Given the description of an element on the screen output the (x, y) to click on. 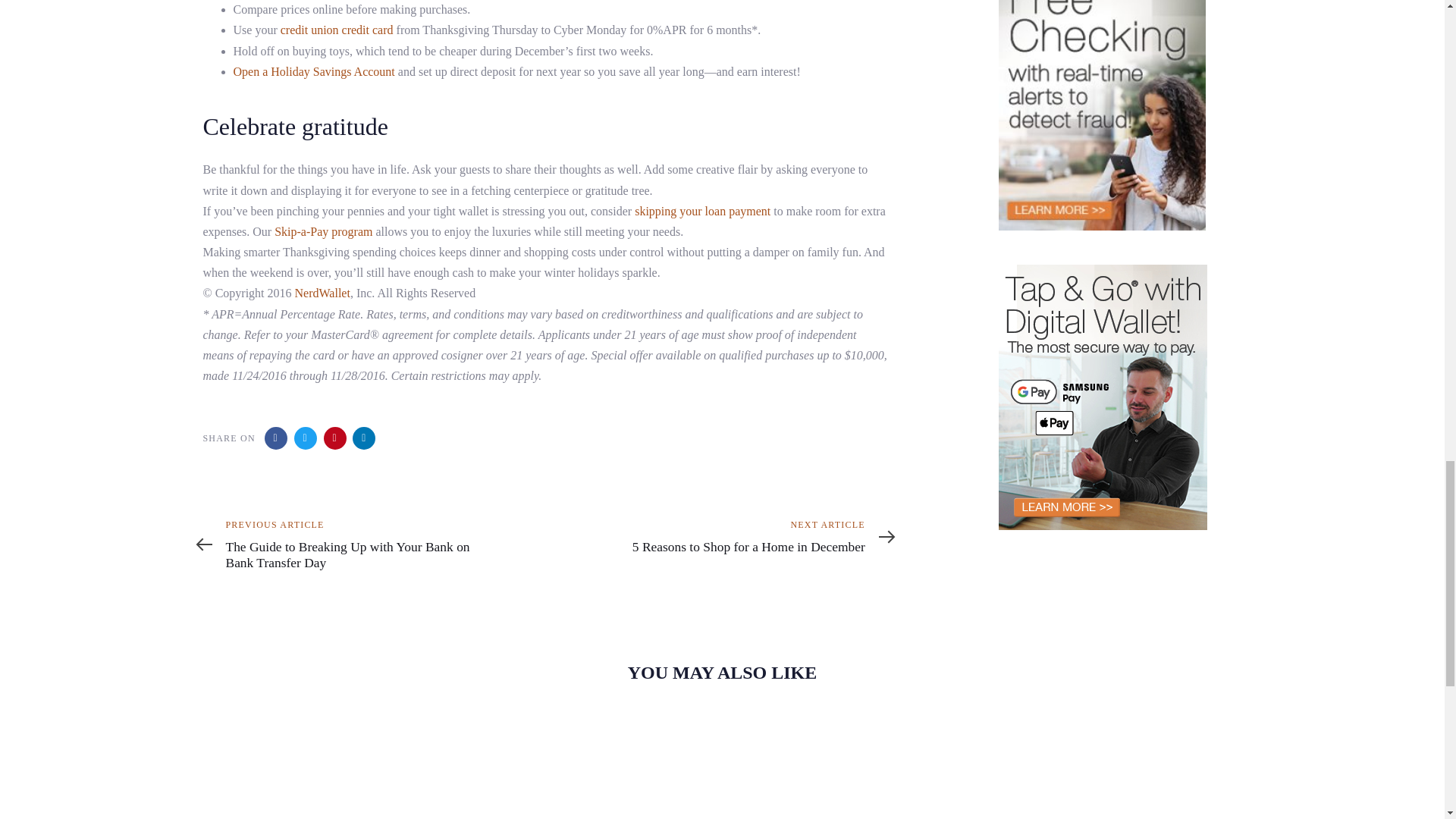
credit union credit card (337, 29)
skipping your loan payment (702, 210)
Skip-a-Pay program (323, 231)
NerdWallet (322, 292)
Open a Holiday Savings Account (313, 71)
